Given the description of an element on the screen output the (x, y) to click on. 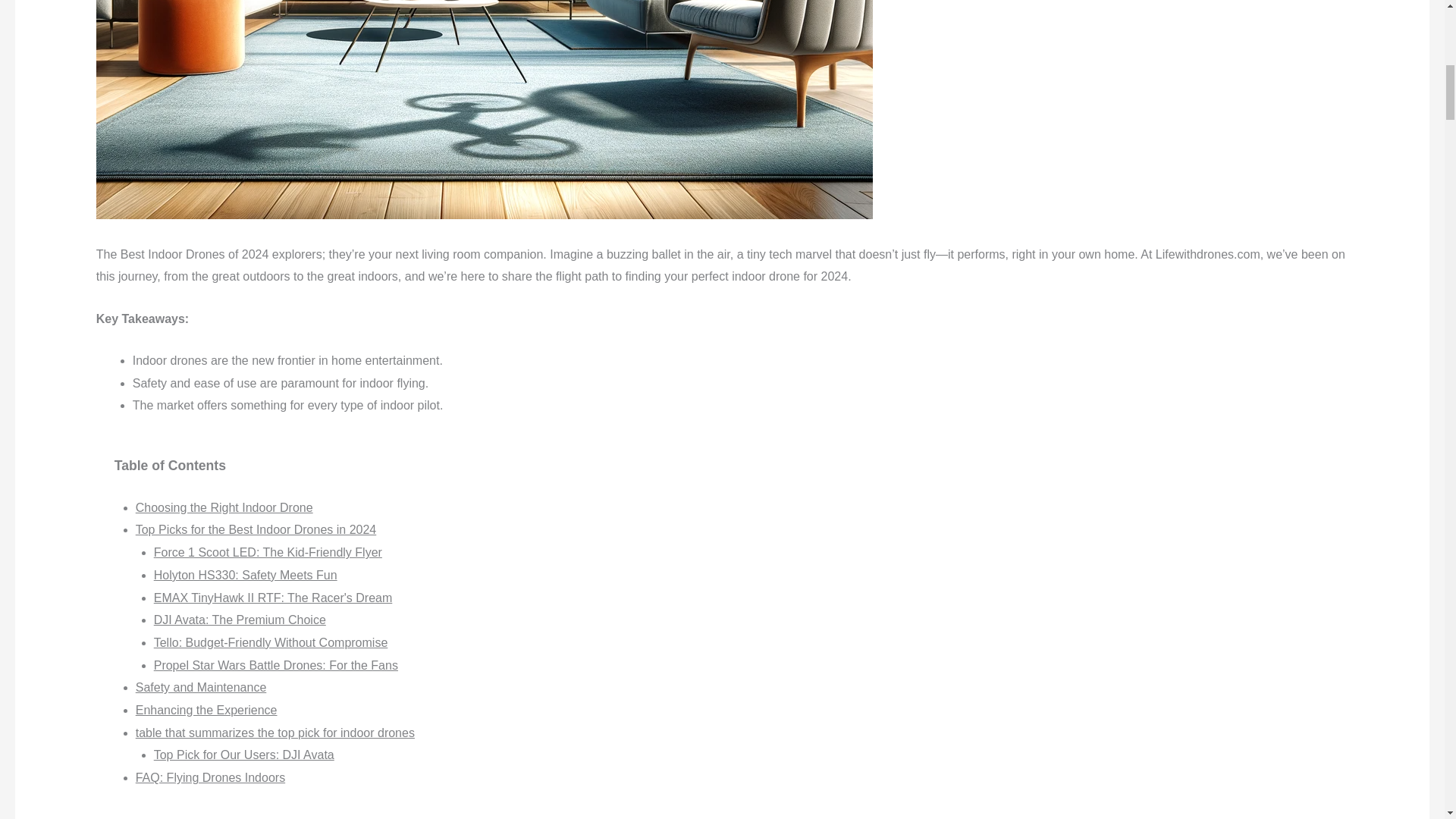
Top Pick for Our Users: DJI Avata (244, 754)
Tello: Budget-Friendly Without Compromise (271, 642)
Safety and Maintenance (200, 686)
Top Picks for the Best Indoor Drones in 2024 (256, 529)
FAQ: Flying Drones Indoors (210, 777)
Propel Star Wars Battle Drones: For the Fans (275, 665)
DJI Avata: The Premium Choice (240, 619)
table that summarizes the top pick for indoor drones (274, 732)
Choosing the Right Indoor Drone (224, 507)
Force 1 Scoot LED: The Kid-Friendly Flyer (267, 552)
Enhancing the Experience (206, 709)
Holyton HS330: Safety Meets Fun (245, 574)
EMAX TinyHawk II RTF: The Racer's Dream (273, 597)
